Given the description of an element on the screen output the (x, y) to click on. 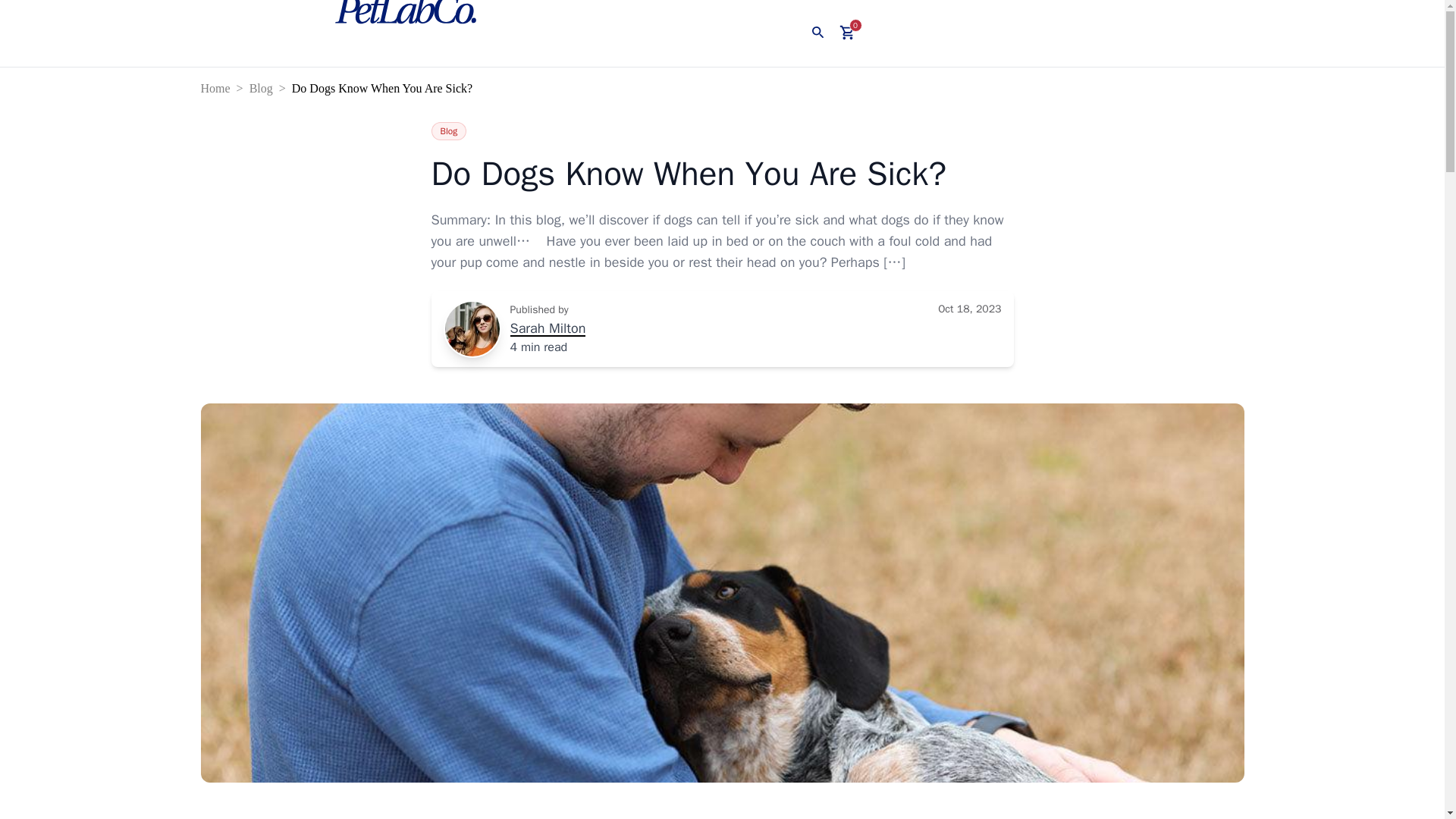
Do Dogs Know When You Are Sick? (385, 88)
Blog (447, 131)
Sarah Milton (547, 328)
Do Dogs Know When You Are Sick? (721, 174)
S (471, 328)
